Given the description of an element on the screen output the (x, y) to click on. 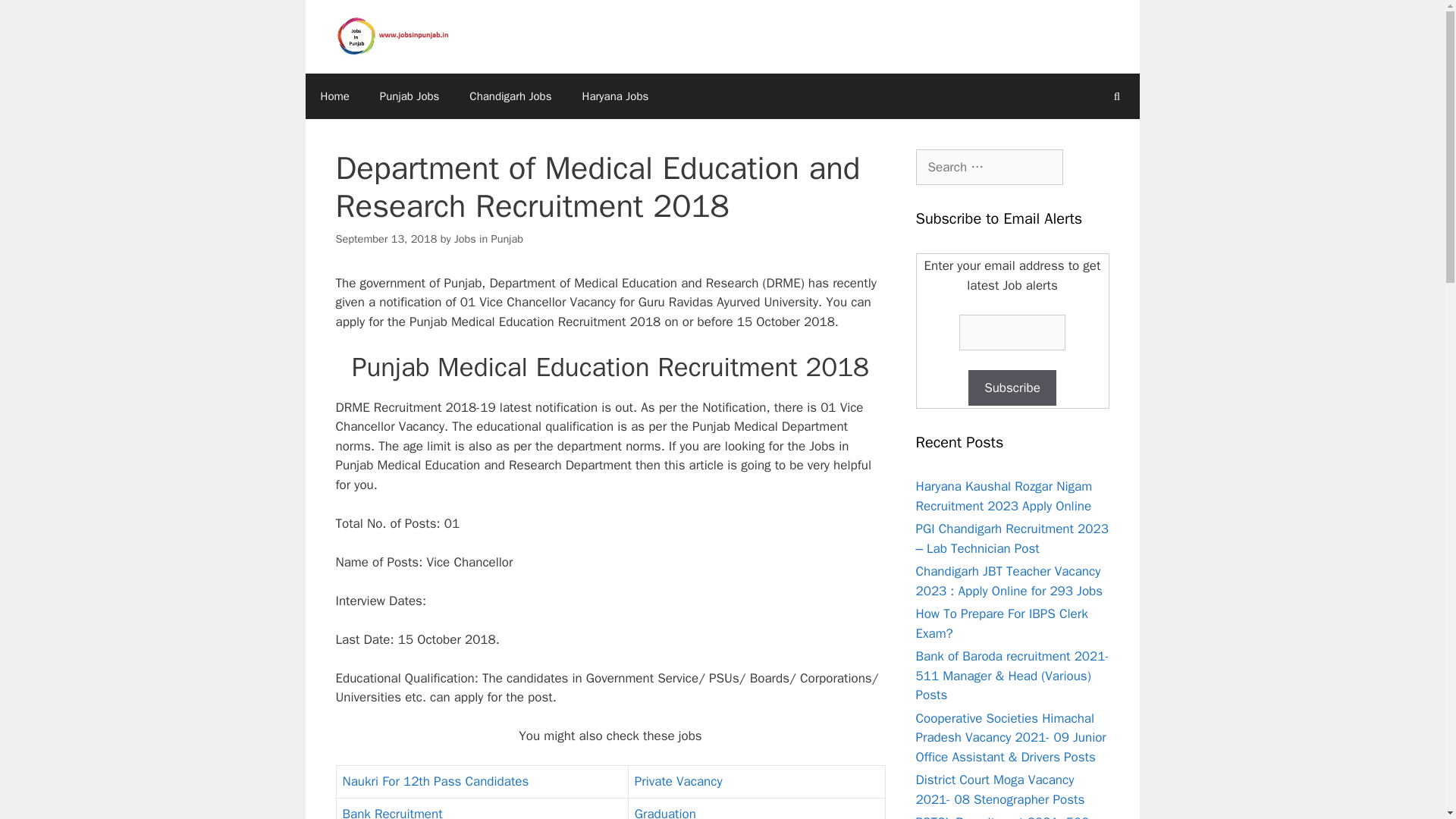
Search for: (988, 167)
Bank Recruitment (392, 812)
Search (35, 18)
Subscribe (1012, 388)
Punjab Jobs (409, 95)
Graduation (664, 812)
Jobs in Punjab (488, 238)
View all posts by Jobs in Punjab (488, 238)
Subscribe (1012, 388)
